Given the description of an element on the screen output the (x, y) to click on. 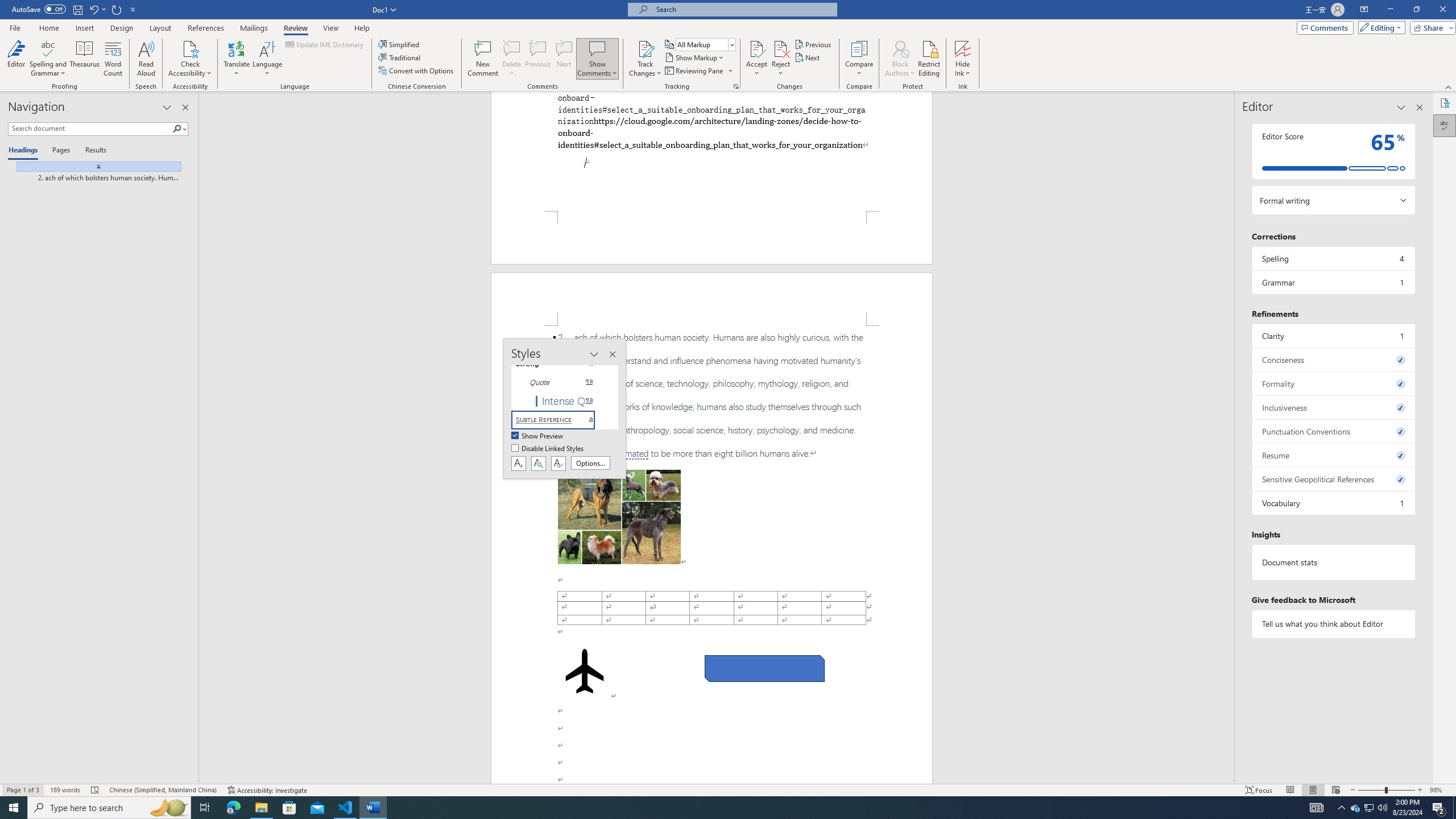
Undo Style (92, 9)
Accept (756, 58)
Track Changes (644, 48)
Grammar, 1 issue. Press space or enter to review items. (1333, 282)
Disable Linked Styles (548, 448)
Accept and Move to Next (756, 48)
Repeat Style (117, 9)
Editor Score 65% (1333, 151)
2. (711, 395)
